Given the description of an element on the screen output the (x, y) to click on. 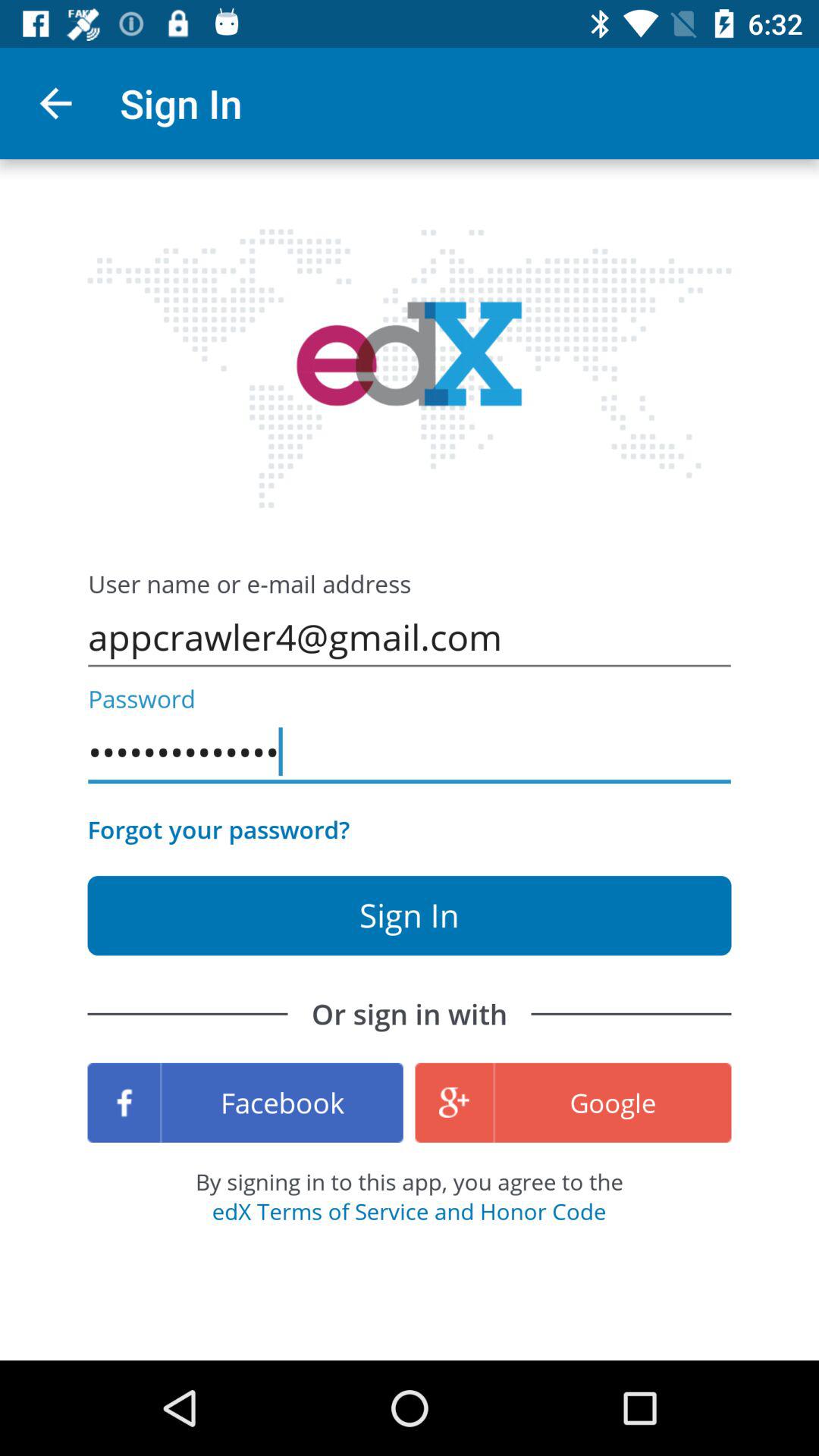
swipe to appcrawler3116 icon (409, 752)
